Given the description of an element on the screen output the (x, y) to click on. 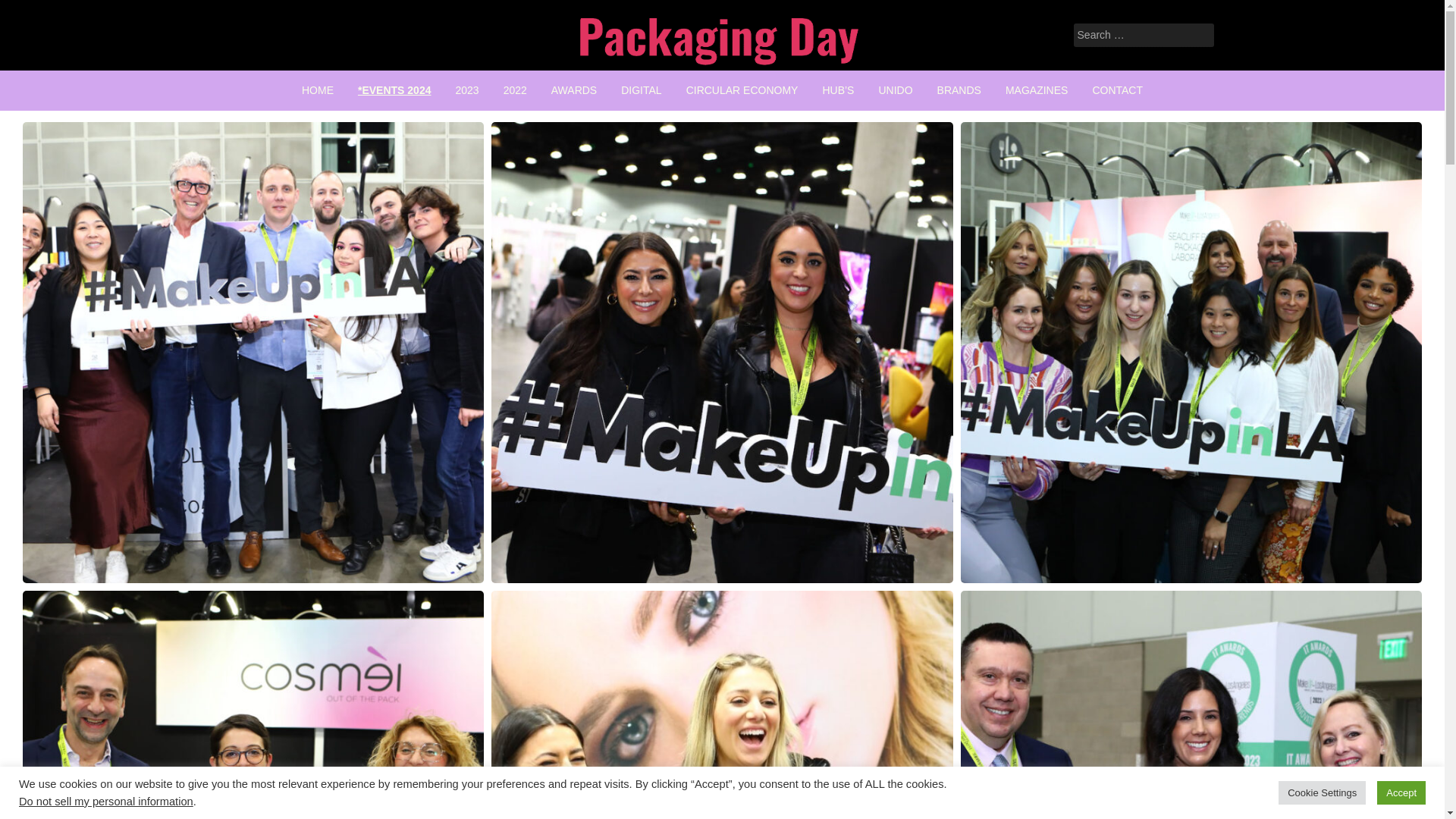
Search (32, 12)
2023 (466, 90)
HOME (317, 90)
YouTube video player (1044, 216)
